Given the description of an element on the screen output the (x, y) to click on. 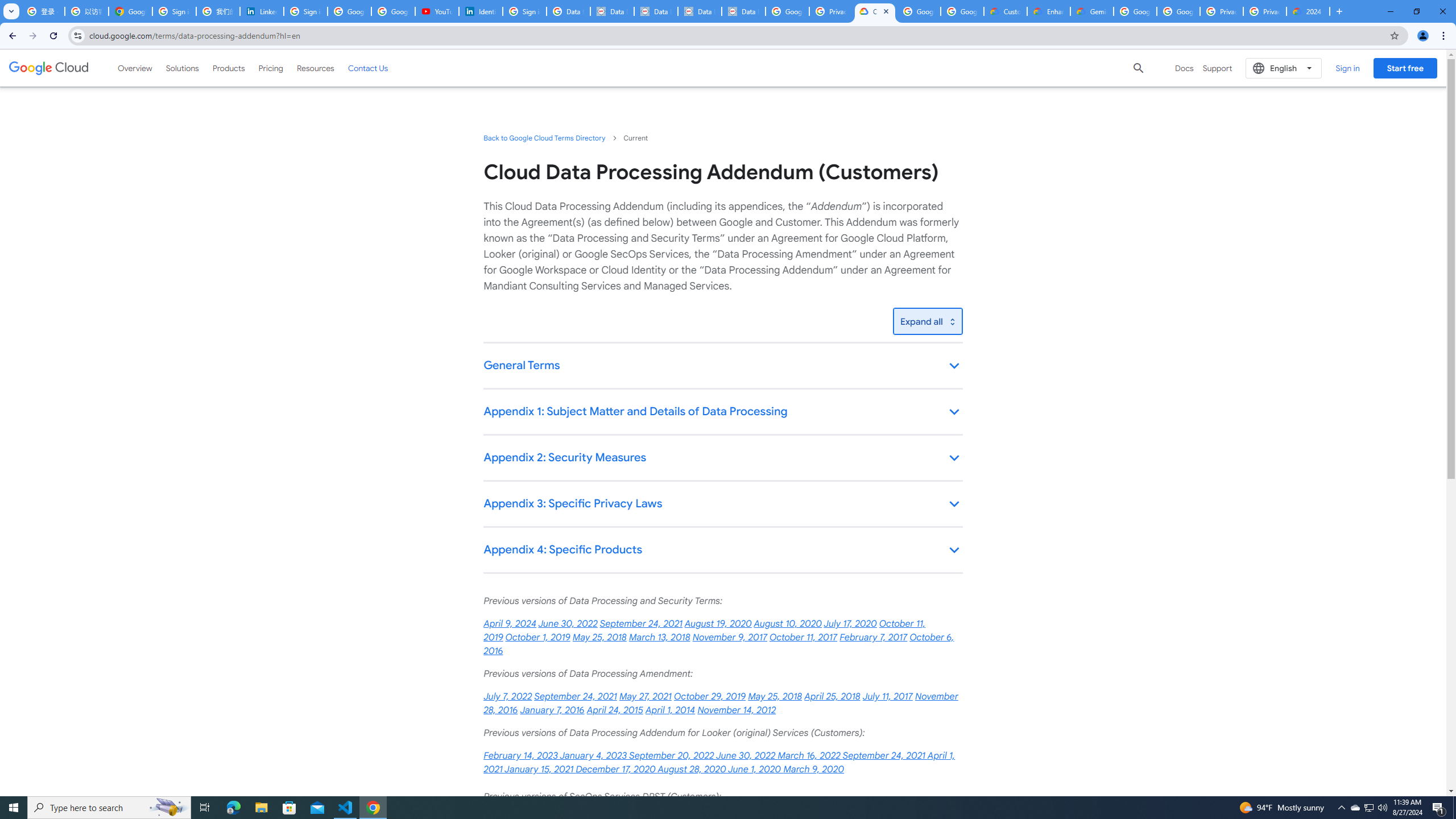
Data Privacy Framework (655, 11)
September 24, 2021 (575, 696)
Enhanced Support | Google Cloud (1048, 11)
March 9, 2020 (813, 769)
February 7, 2017 (873, 637)
Google Cloud Platform (1178, 11)
April 1, 2014 (670, 709)
